Given the description of an element on the screen output the (x, y) to click on. 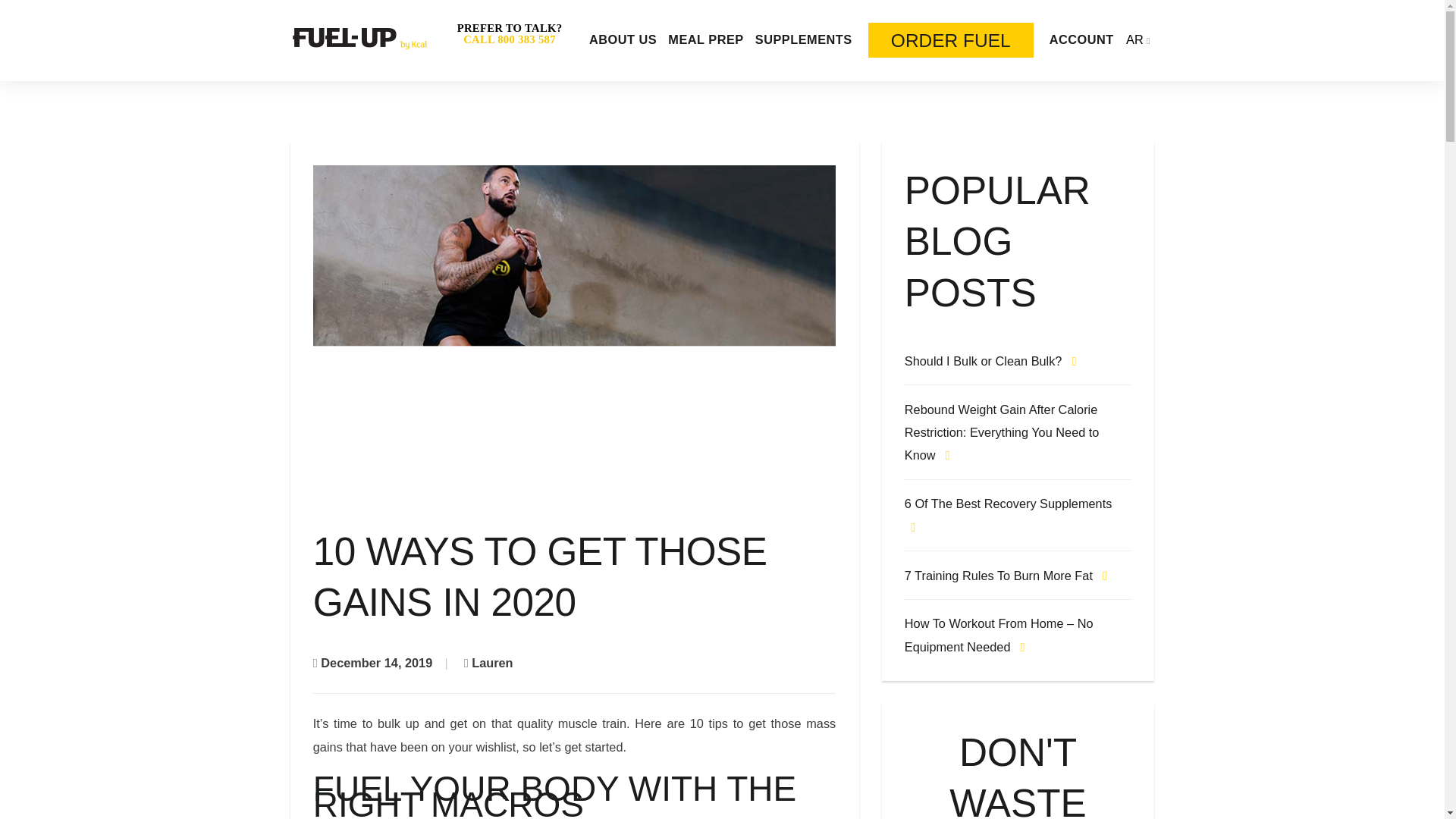
MEAL PREP (705, 38)
ABOUT US (622, 38)
7 Training Rules To Burn More Fat (1008, 575)
Should I Bulk or Clean Bulk? (993, 360)
ORDER FUEL (950, 39)
ACCOUNT (1081, 38)
AR (1133, 38)
6 Of The Best Recovery Supplements (1008, 514)
SUPPLEMENTS (803, 38)
